Given the description of an element on the screen output the (x, y) to click on. 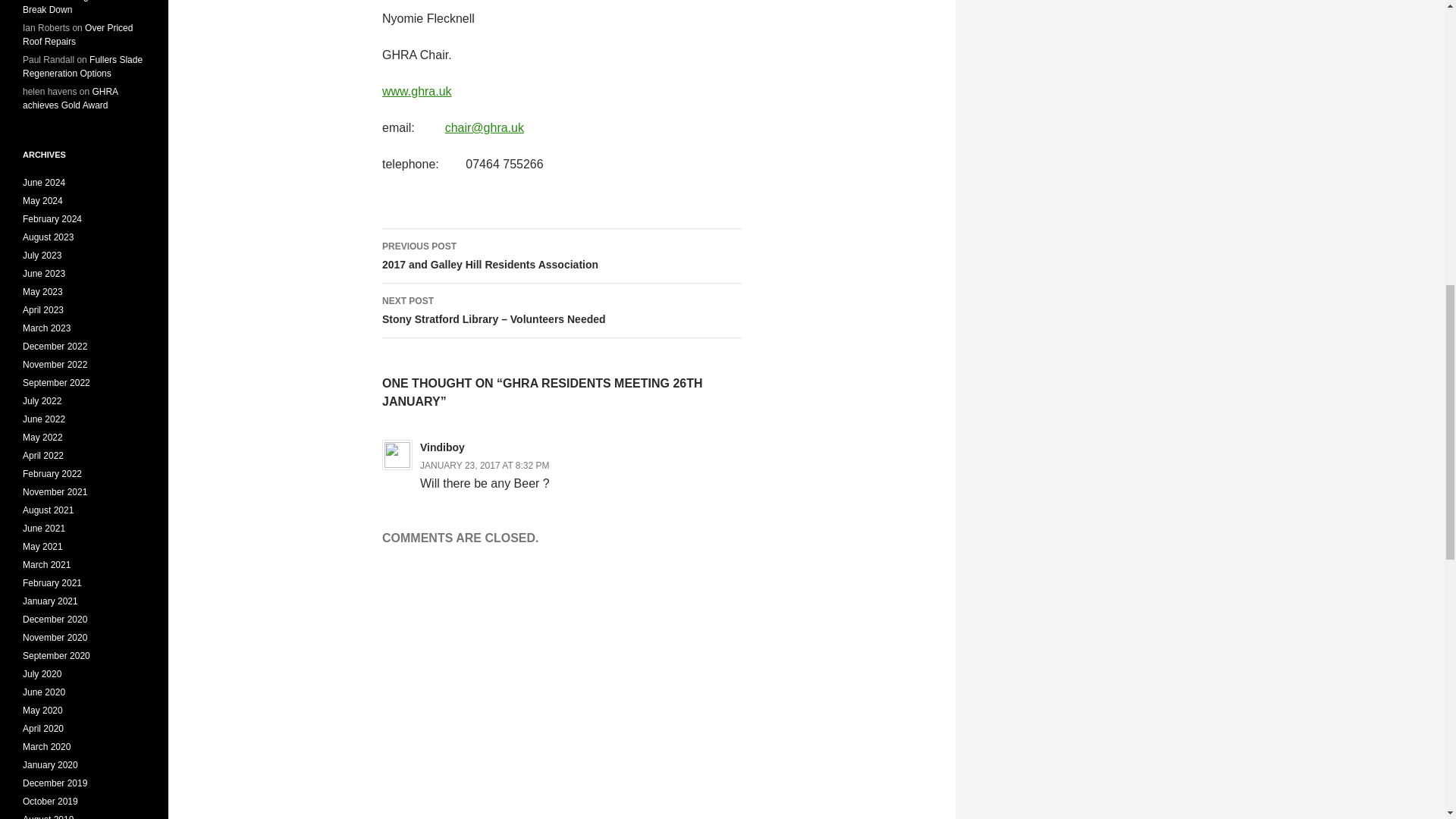
www.ghra.uk (416, 91)
JANUARY 23, 2017 AT 8:32 PM (561, 256)
Fullers Slade Regeneration Options (485, 465)
Over Priced Roof Repairs (82, 66)
GHRA And MK Council Negotiations Break Down (77, 34)
GHRA achieves Gold Award (80, 7)
